Given the description of an element on the screen output the (x, y) to click on. 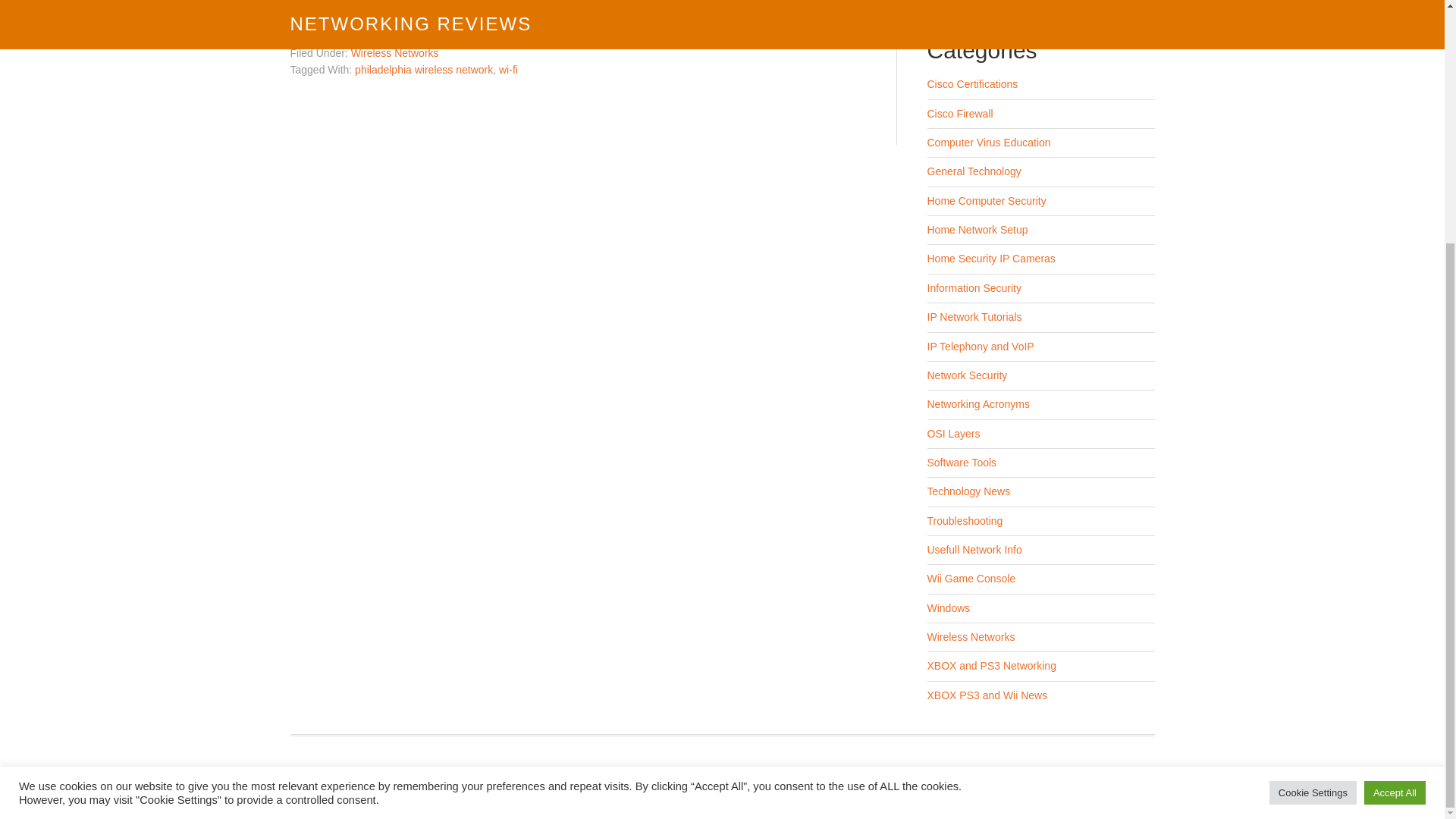
Types Of Wireless Speaker Adapters (1013, 2)
Wii Game Console (970, 578)
Windows (947, 607)
IP Network Tutorials (974, 316)
Computer Virus Education (987, 142)
Home Security IP Cameras (990, 258)
Contact (715, 792)
IP Telephony and VoIP (979, 346)
OSI Layers (952, 433)
Accept All (1394, 454)
Cookie Settings (1312, 454)
Home Computer Security (985, 200)
Cisco Firewall (959, 113)
wi-fi (508, 69)
XBOX PS3 and Wii News (986, 695)
